Given the description of an element on the screen output the (x, y) to click on. 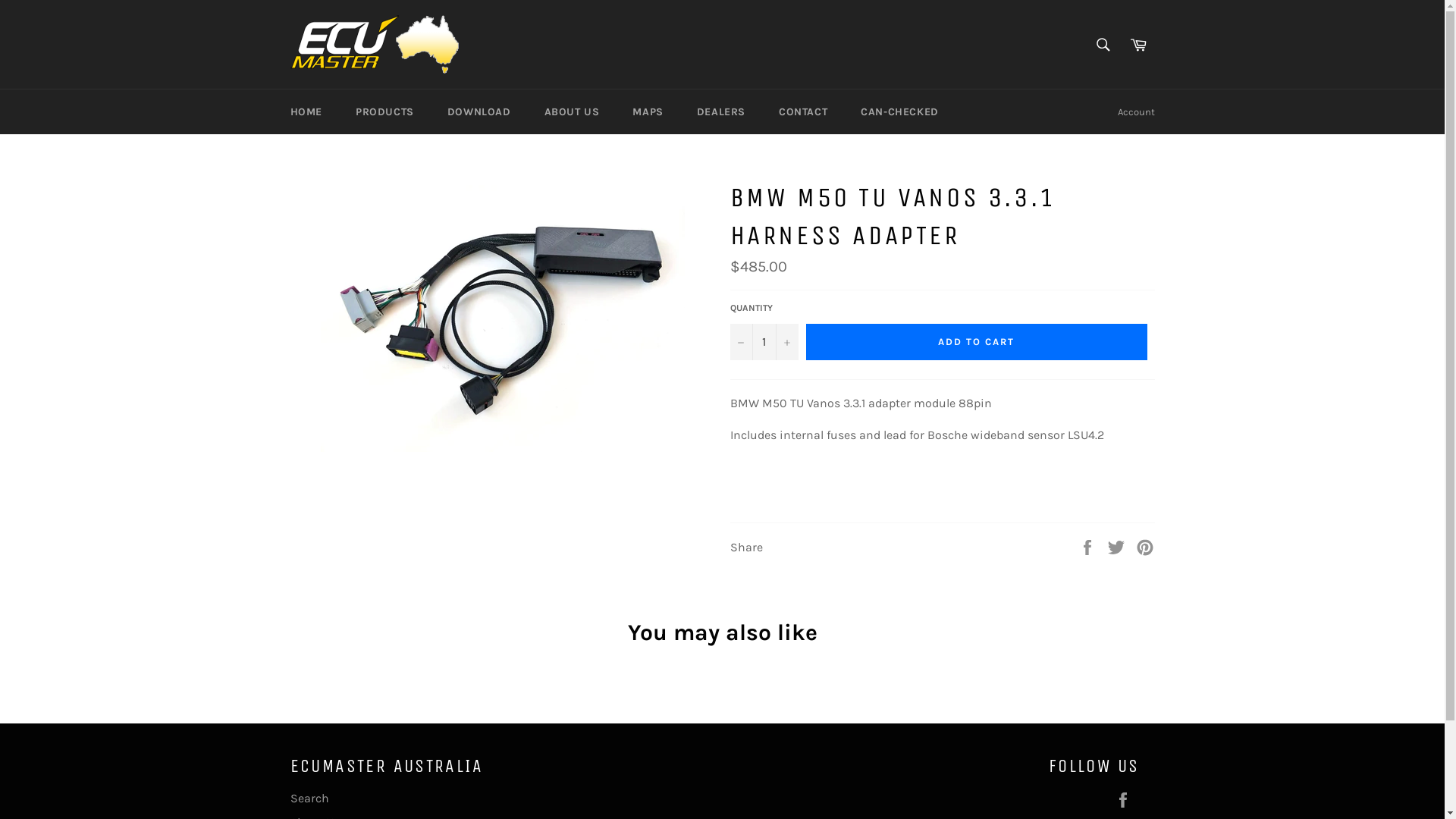
Search Element type: text (308, 797)
DOWNLOAD Element type: text (479, 111)
ADD TO CART Element type: text (975, 341)
Account Element type: text (1136, 112)
Tweet on Twitter Element type: text (1117, 546)
ABOUT US Element type: text (572, 111)
HOME Element type: text (305, 111)
PRODUCTS Element type: text (384, 111)
Facebook Element type: text (1126, 799)
Pin on Pinterest Element type: text (1144, 546)
Cart Element type: text (1138, 44)
+ Element type: text (786, 341)
Share on Facebook Element type: text (1088, 546)
MAPS Element type: text (647, 111)
CAN-CHECKED Element type: text (899, 111)
DEALERS Element type: text (720, 111)
Search Element type: text (1103, 44)
CONTACT Element type: text (802, 111)
